Given the description of an element on the screen output the (x, y) to click on. 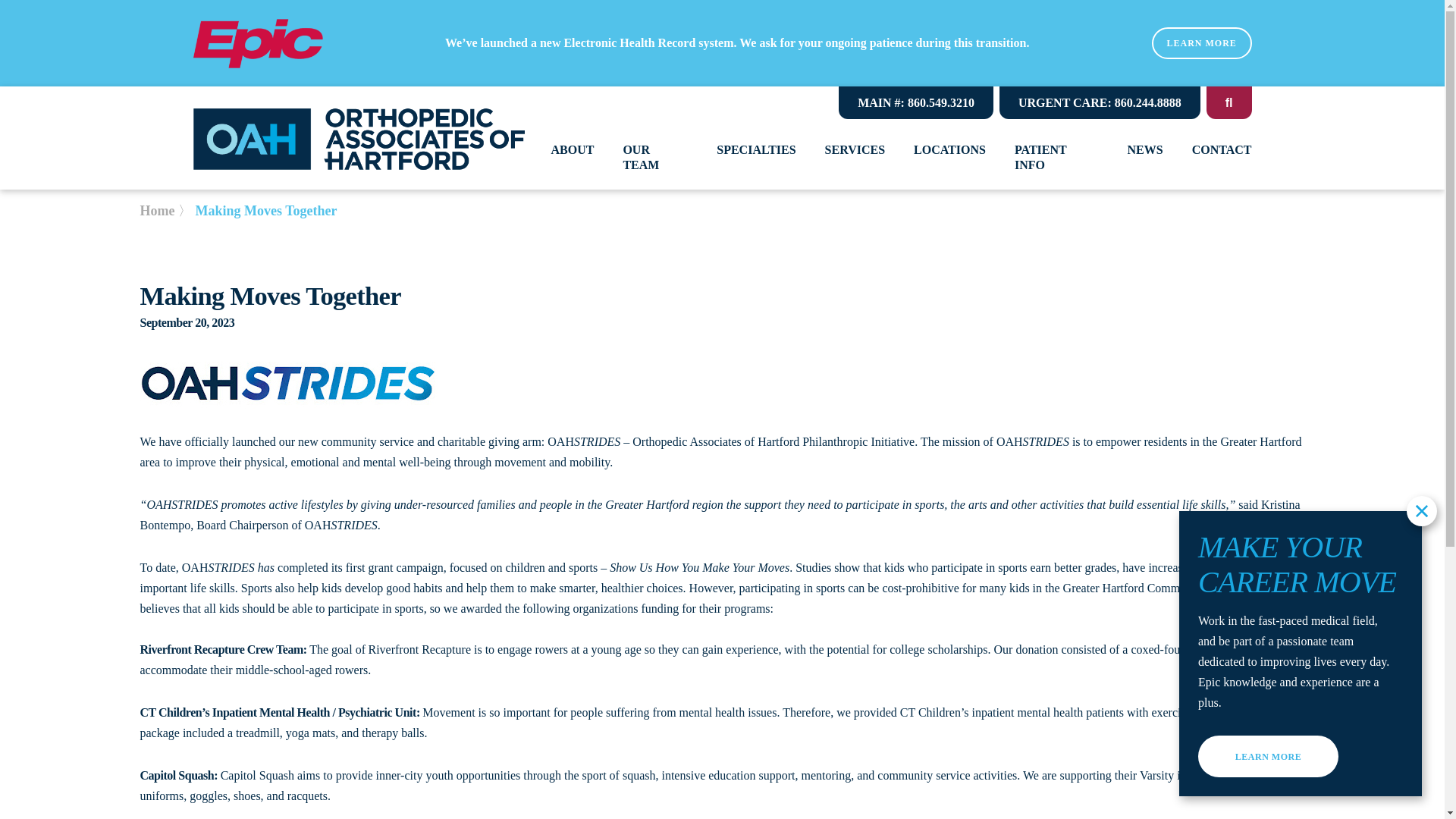
LEARN MORE (1201, 42)
URGENT CARE: 860.244.8888 (1098, 102)
SPECIALTIES (755, 150)
OUR TEAM (655, 157)
SERVICES (855, 150)
ABOUT (572, 150)
PATIENT INFO (1056, 157)
LOCATIONS (949, 150)
